Given the description of an element on the screen output the (x, y) to click on. 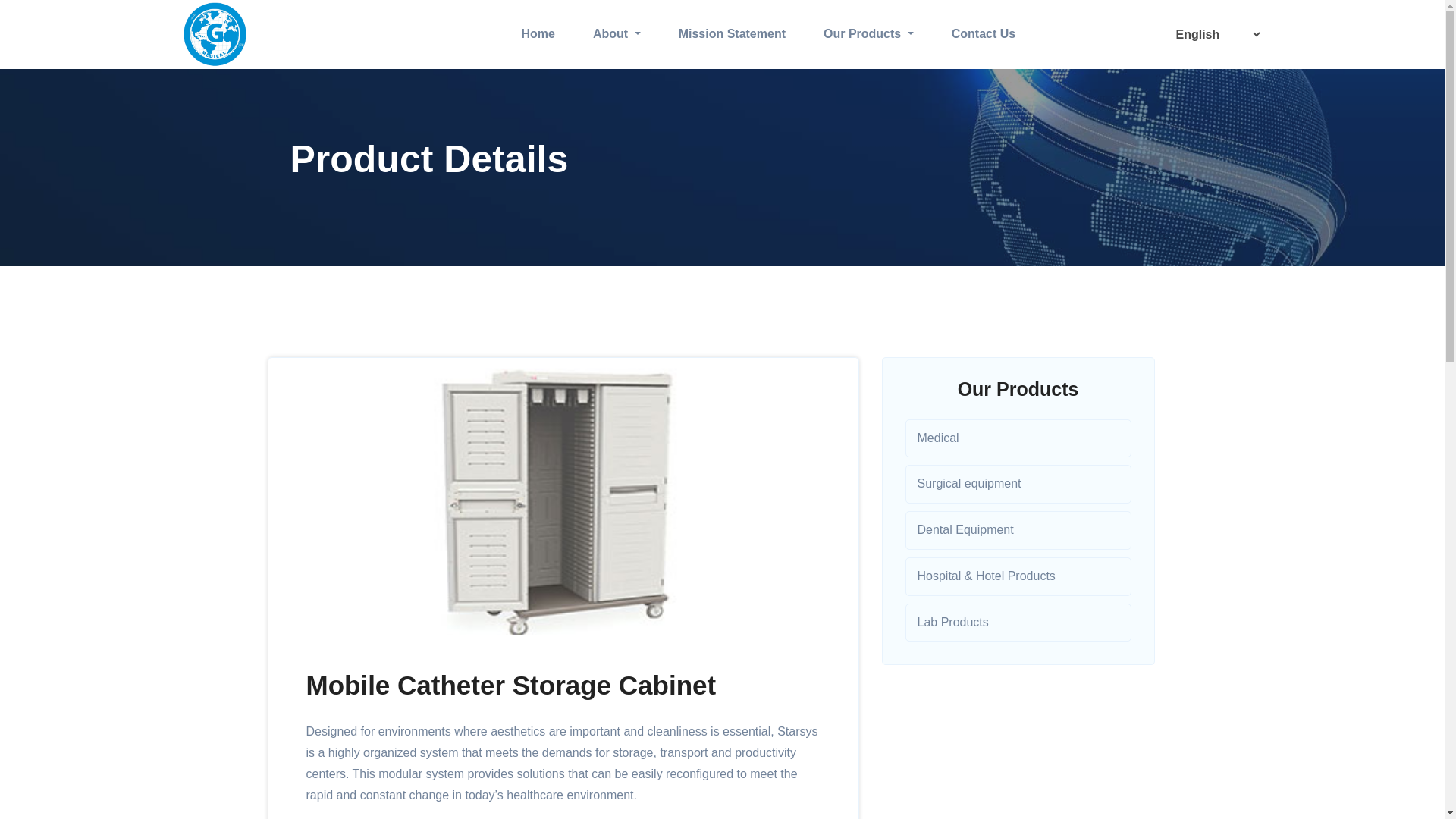
Surgical equipment (1018, 484)
Medical (1018, 437)
Contact Us (983, 34)
Mission Statement (732, 34)
Our Products (869, 34)
